Given the description of an element on the screen output the (x, y) to click on. 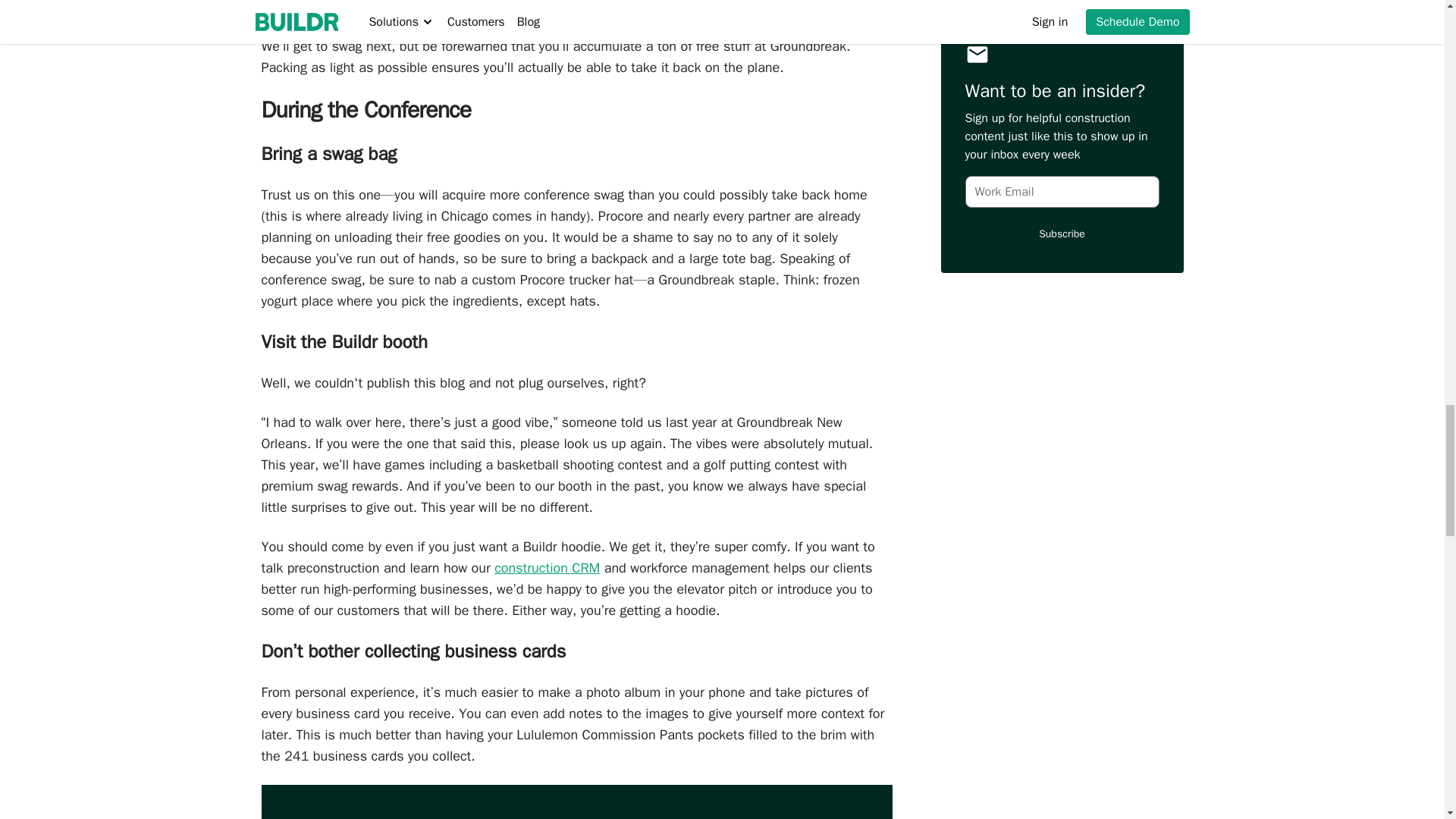
construction CRM (547, 567)
athletic chinos (303, 7)
